Given the description of an element on the screen output the (x, y) to click on. 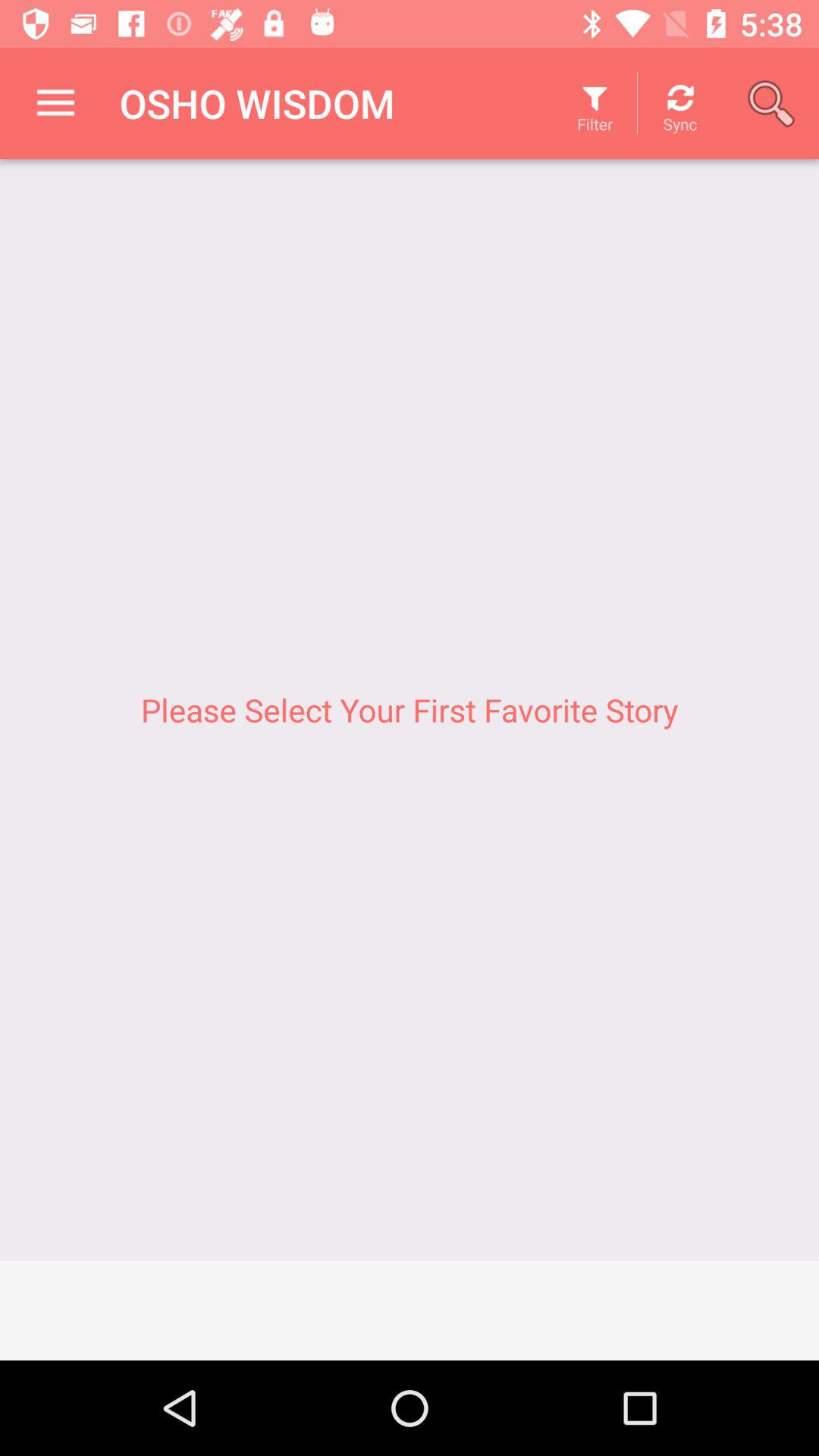
select icon above please select your (55, 103)
